Given the description of an element on the screen output the (x, y) to click on. 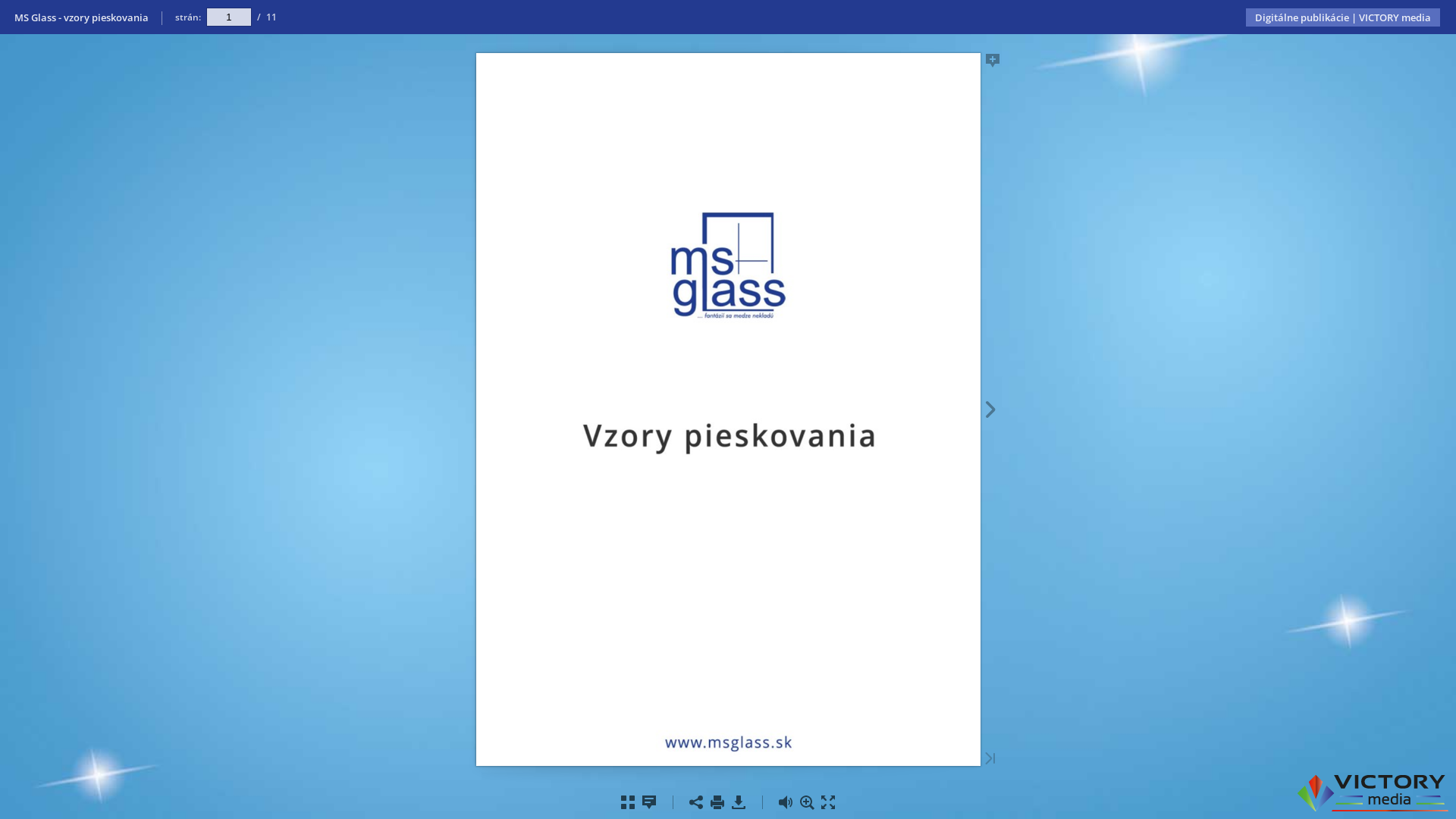
Add Note Element type: hover (991, 60)
Notes Element type: hover (648, 801)
